Given the description of an element on the screen output the (x, y) to click on. 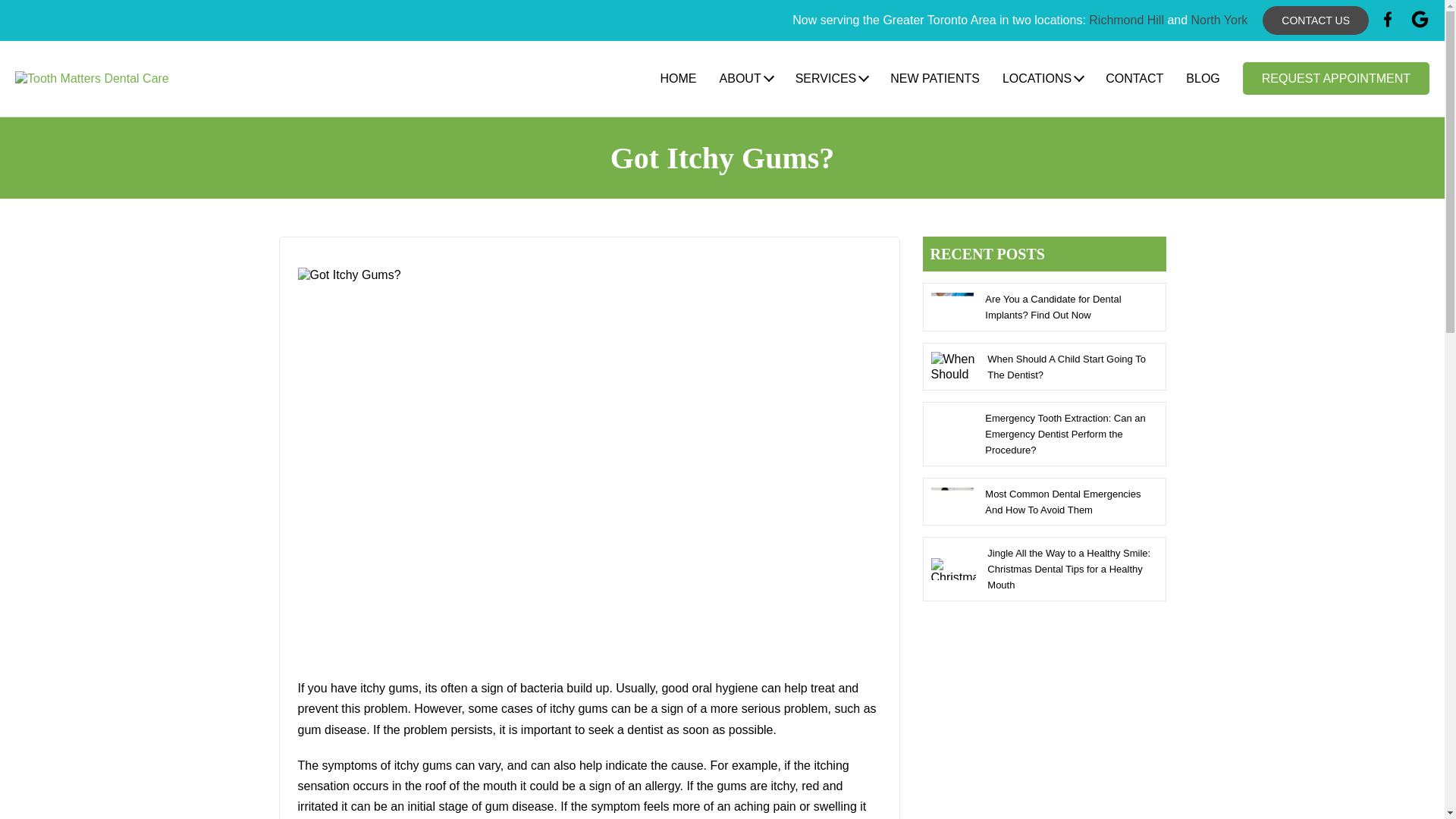
SERVICES (830, 78)
Richmond Hill (1126, 19)
CONTACT US (1315, 20)
North York (1219, 19)
NEW PATIENTS (934, 78)
